Given the description of an element on the screen output the (x, y) to click on. 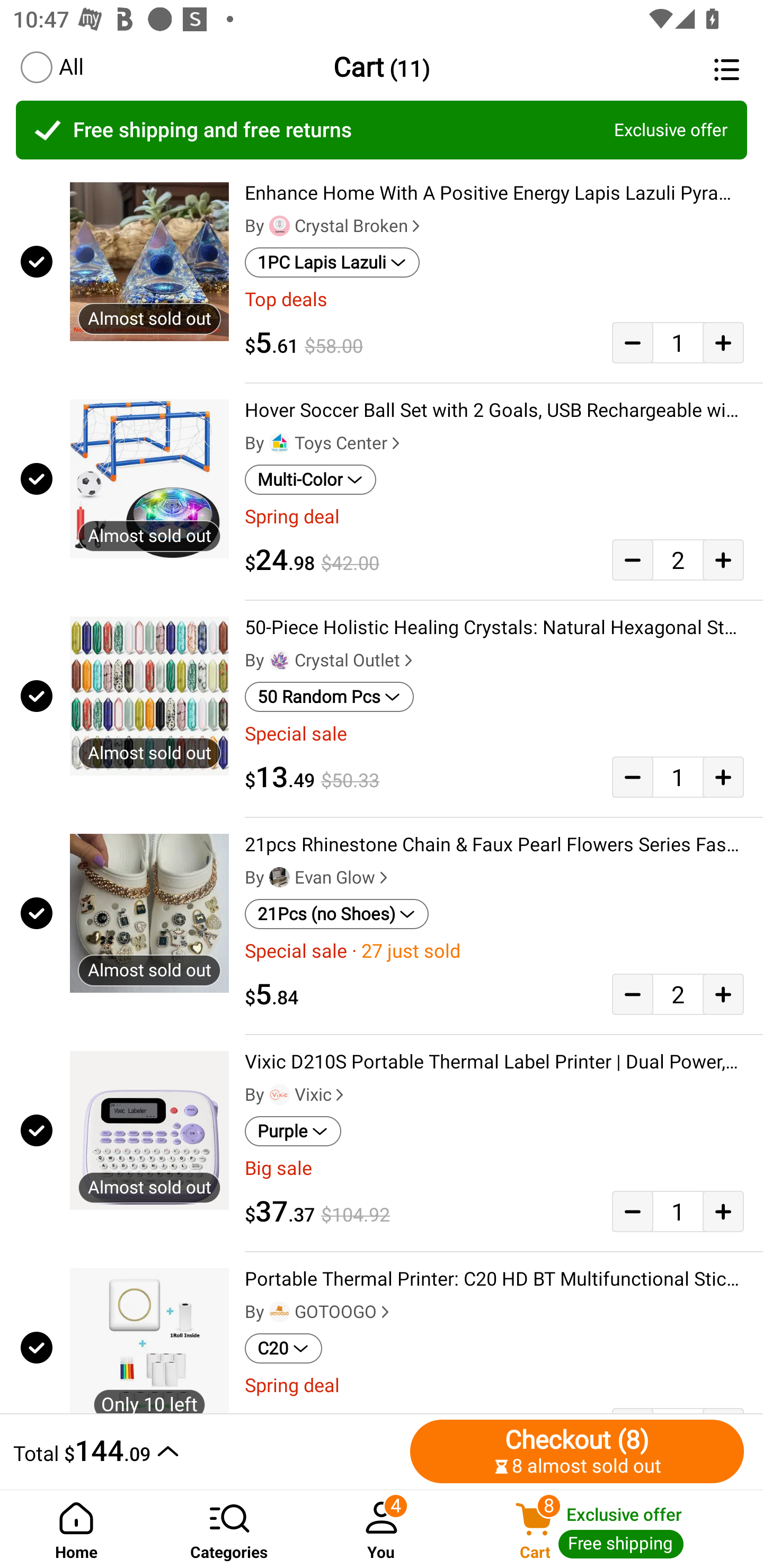
Select all tick button All (51, 67)
Free shipping and free returns Exclusive offer (381, 129)
Product checkbox checked (35, 260)
By Crystal Broken (334, 226)
1PC Lapis Lazuli (331, 262)
Top deals (493, 299)
Decrease quantity button (632, 342)
1 (677, 342)
Add quantity button (722, 342)
Product checkbox checked (35, 478)
By Toys Center (323, 442)
Multi-Color (310, 479)
Spring deal (493, 517)
Decrease quantity button (632, 559)
2 (677, 559)
Add quantity button (722, 559)
Product checkbox checked (35, 696)
By Crystal Outlet (330, 660)
50 Random Pcs (328, 696)
Decrease quantity button (632, 776)
1 (677, 776)
Add quantity button (722, 776)
Product checkbox checked (35, 913)
By Evan Glow (317, 877)
21Pcs (no Shoes) (336, 913)
Decrease quantity button (632, 993)
2 (677, 993)
Add quantity button (722, 993)
Product checkbox checked (35, 1130)
By Vixic (295, 1095)
Purple (292, 1131)
Decrease quantity button (632, 1211)
1 (677, 1211)
Add quantity button (722, 1211)
Product checkbox checked (35, 1344)
By GOTOOGO (318, 1311)
C20 (282, 1348)
Spring deal (493, 1386)
Total $144.09 (206, 1450)
Checkout Checkout (8) ￼8 almost sold out (576, 1451)
Home (76, 1528)
Categories (228, 1528)
You 4 You (381, 1528)
Cart 8 Cart Exclusive offer (610, 1528)
